Given the description of an element on the screen output the (x, y) to click on. 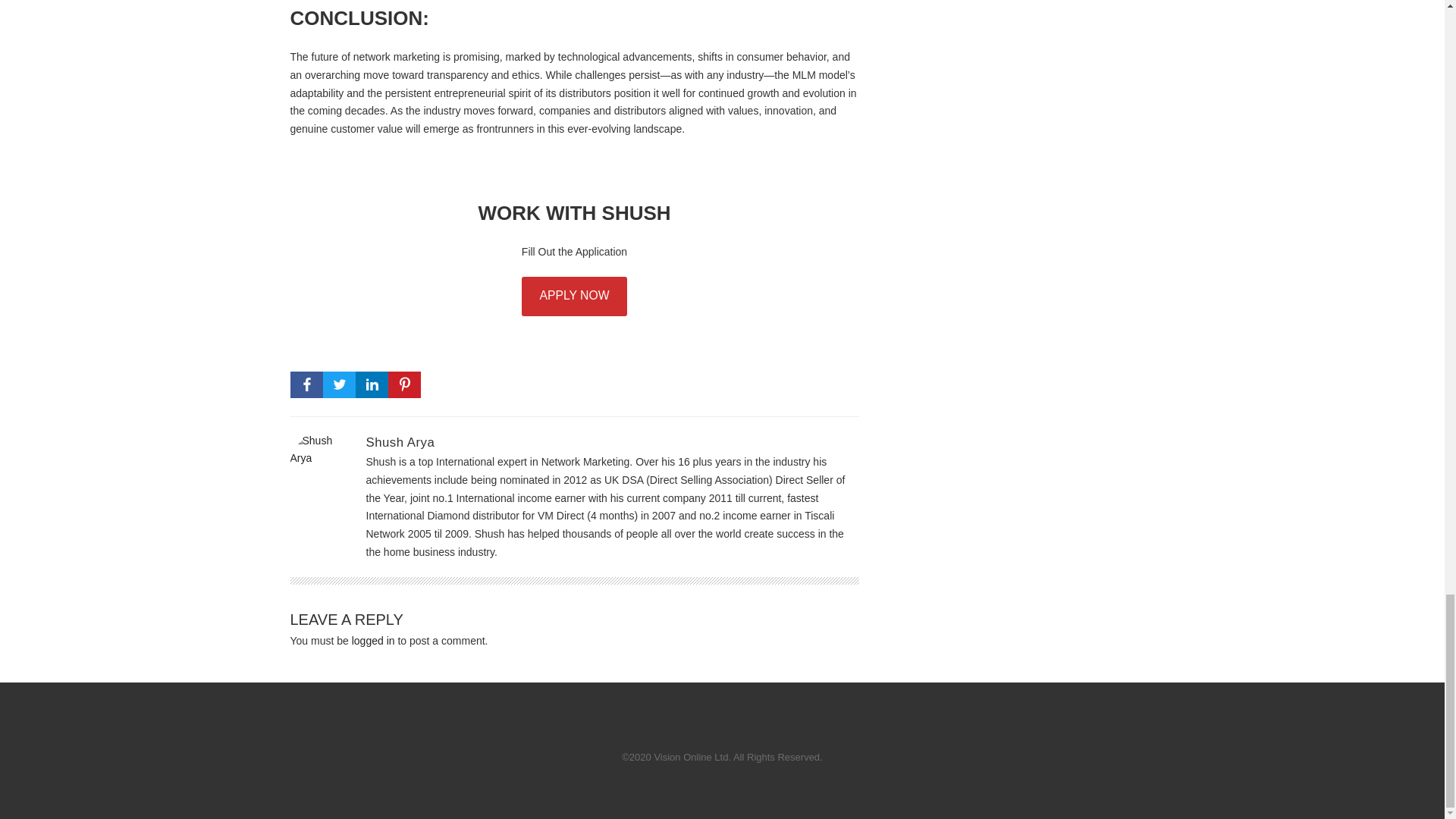
APPLY NOW (573, 296)
Shush Arya (399, 441)
logged in (373, 640)
